Given the description of an element on the screen output the (x, y) to click on. 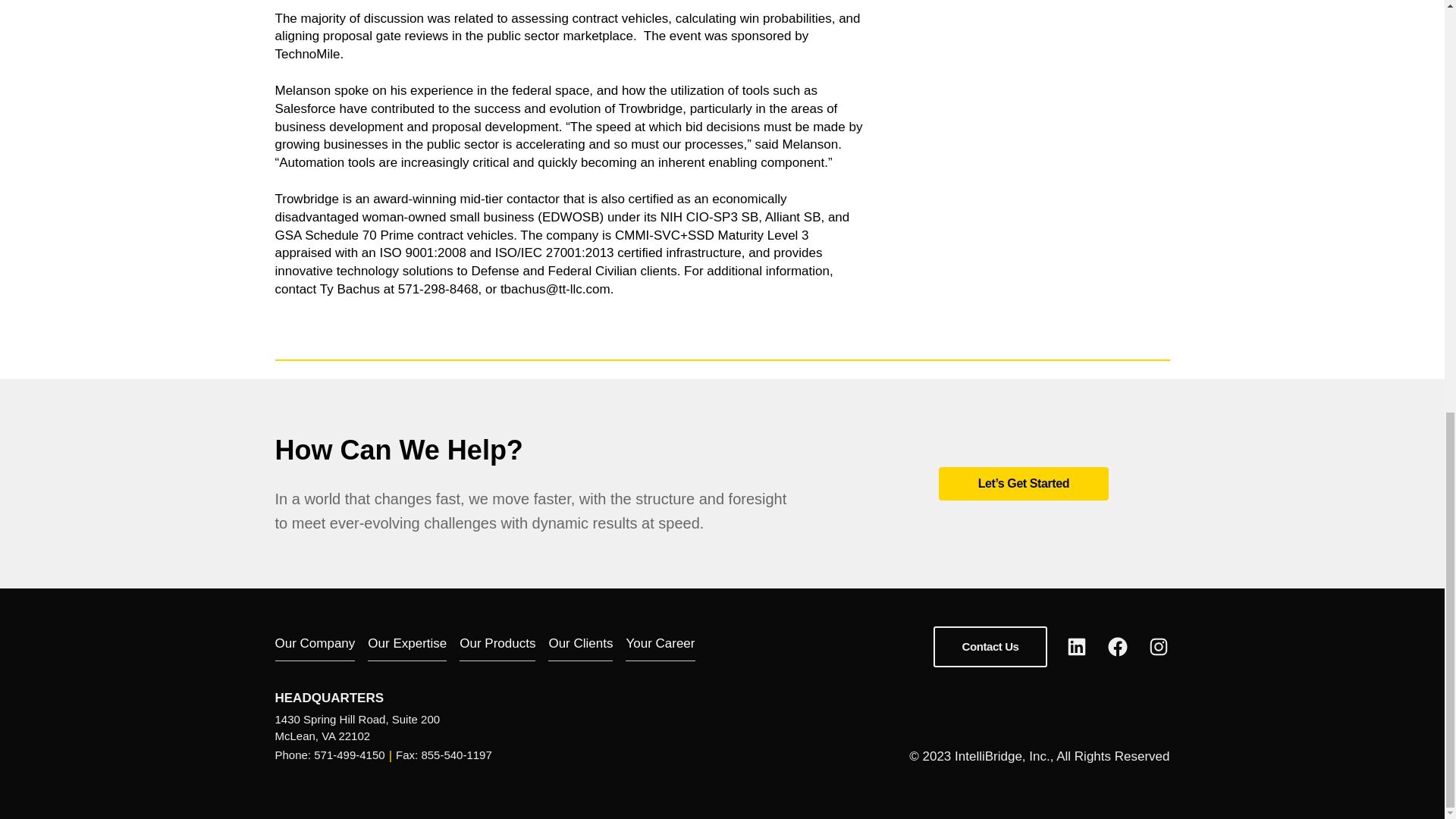
LinkedIn (1075, 646)
Our Clients (580, 646)
Contact Us (989, 646)
Our Expertise (407, 646)
Facebook (1116, 646)
Your Career (660, 646)
Our Products (497, 646)
Our Company (315, 646)
Instagram (1158, 646)
